Given the description of an element on the screen output the (x, y) to click on. 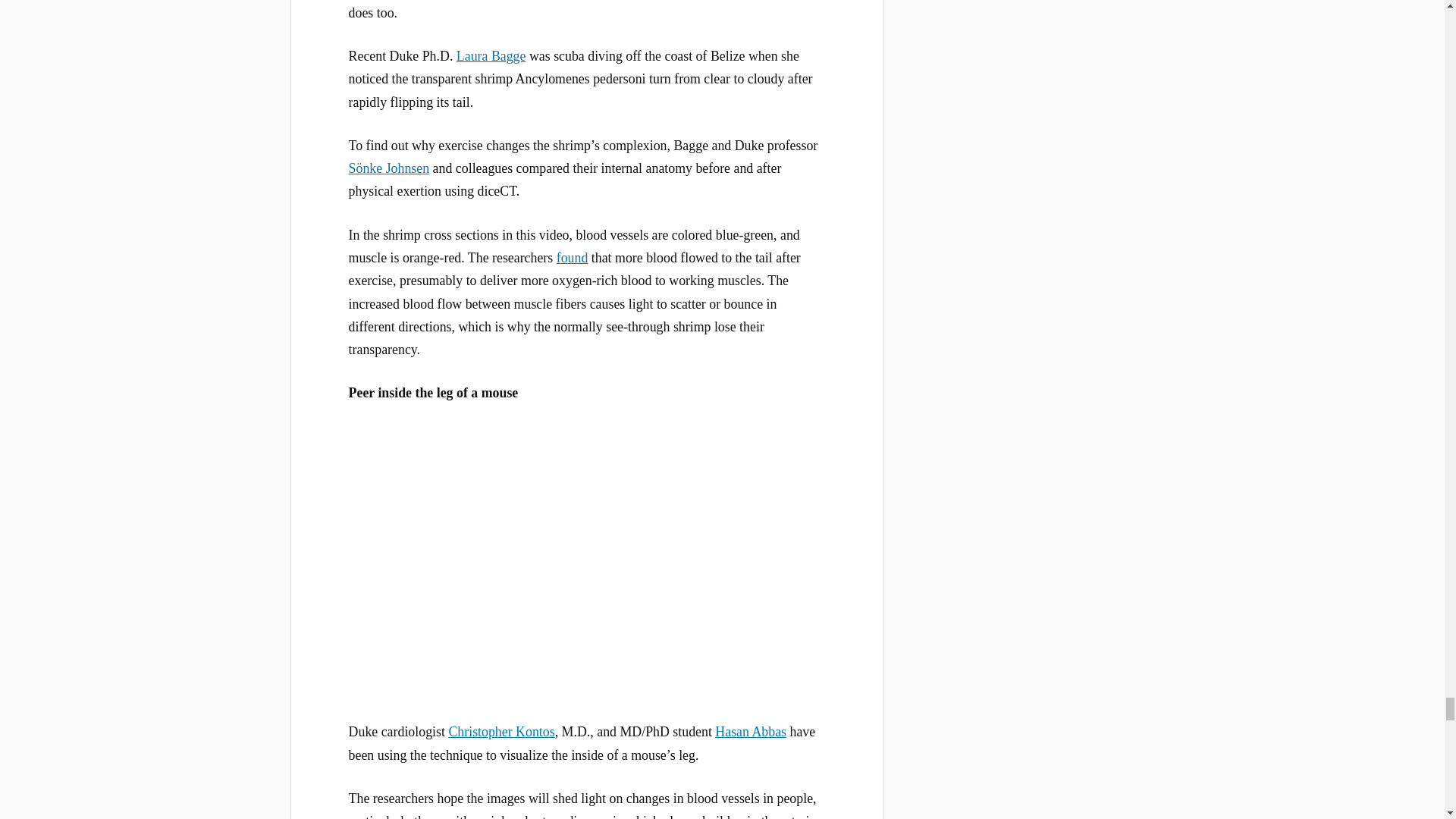
MicroCT of mouse leg stained with iodine (587, 558)
